Given the description of an element on the screen output the (x, y) to click on. 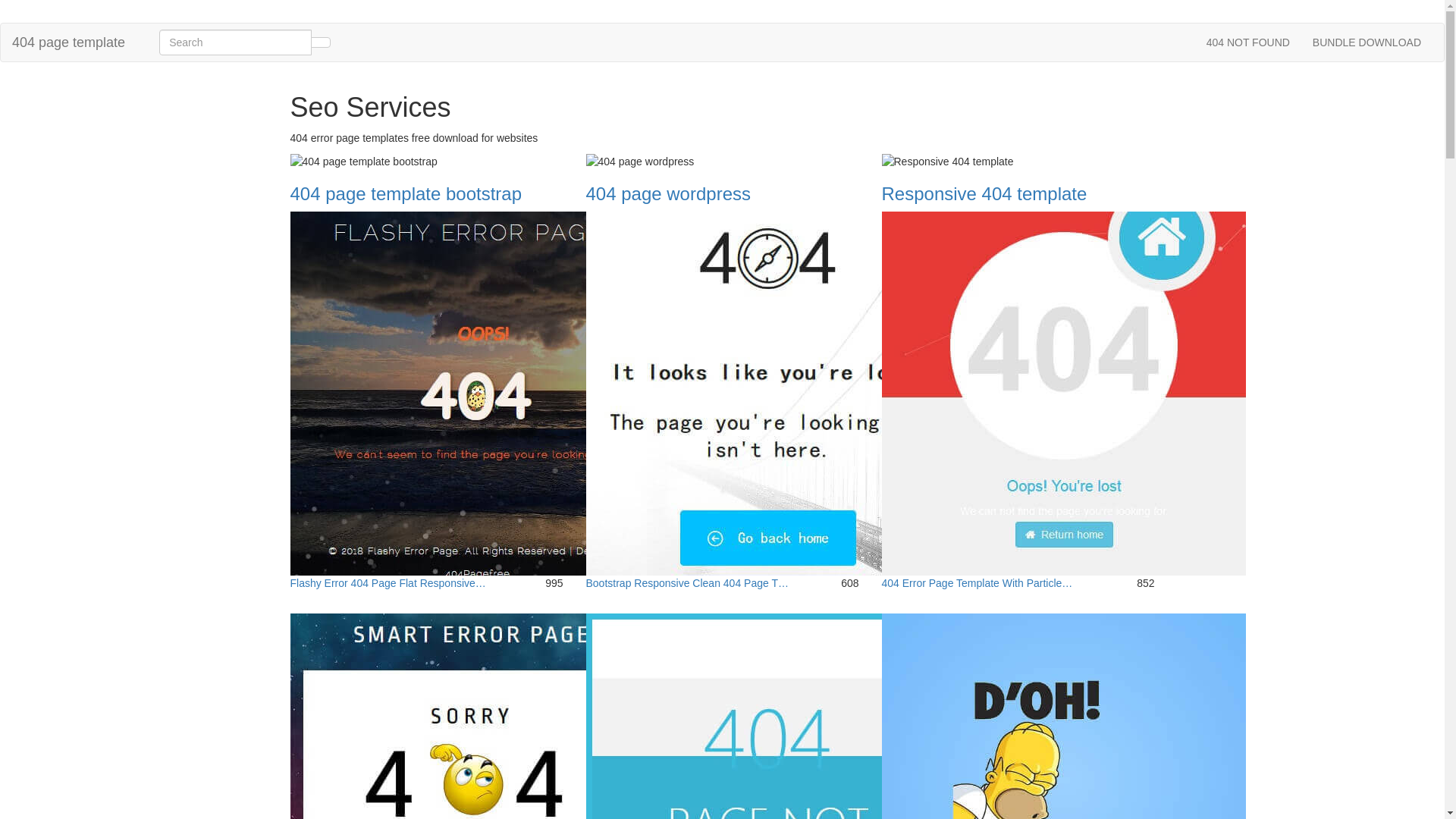
Responsive 404 template Element type: hover (947, 161)
Responsive 404 template Element type: text (983, 193)
404 Error Page Template With Particles Element type: hover (1063, 393)
Responsive Smart Error Page Website Template Element type: hover (471, 794)
404 page wordpress Element type: text (667, 193)
Bootstrap Responsive Clean 404 Page Template Element type: hover (767, 392)
Bootstrap Responsive Clean 404 Page Template Element type: hover (767, 393)
404 Error Page Template With Particles Element type: hover (1063, 392)
404 NOT FOUND Element type: text (1248, 42)
Flashy Error 404 Page Flat Responsive Template Element type: hover (471, 393)
404 page wordpress Element type: hover (639, 161)
Simple 404 error page template Element type: hover (1063, 794)
404 page template bootstrap Element type: text (405, 193)
BUNDLE DOWNLOAD Element type: text (1366, 42)
404 page template Element type: text (68, 42)
404 page template bootstrap Element type: hover (362, 161)
404 error page Bootstrap Template Element type: hover (767, 794)
Flashy Error 404 Page Flat Responsive Template Element type: hover (471, 392)
